Given the description of an element on the screen output the (x, y) to click on. 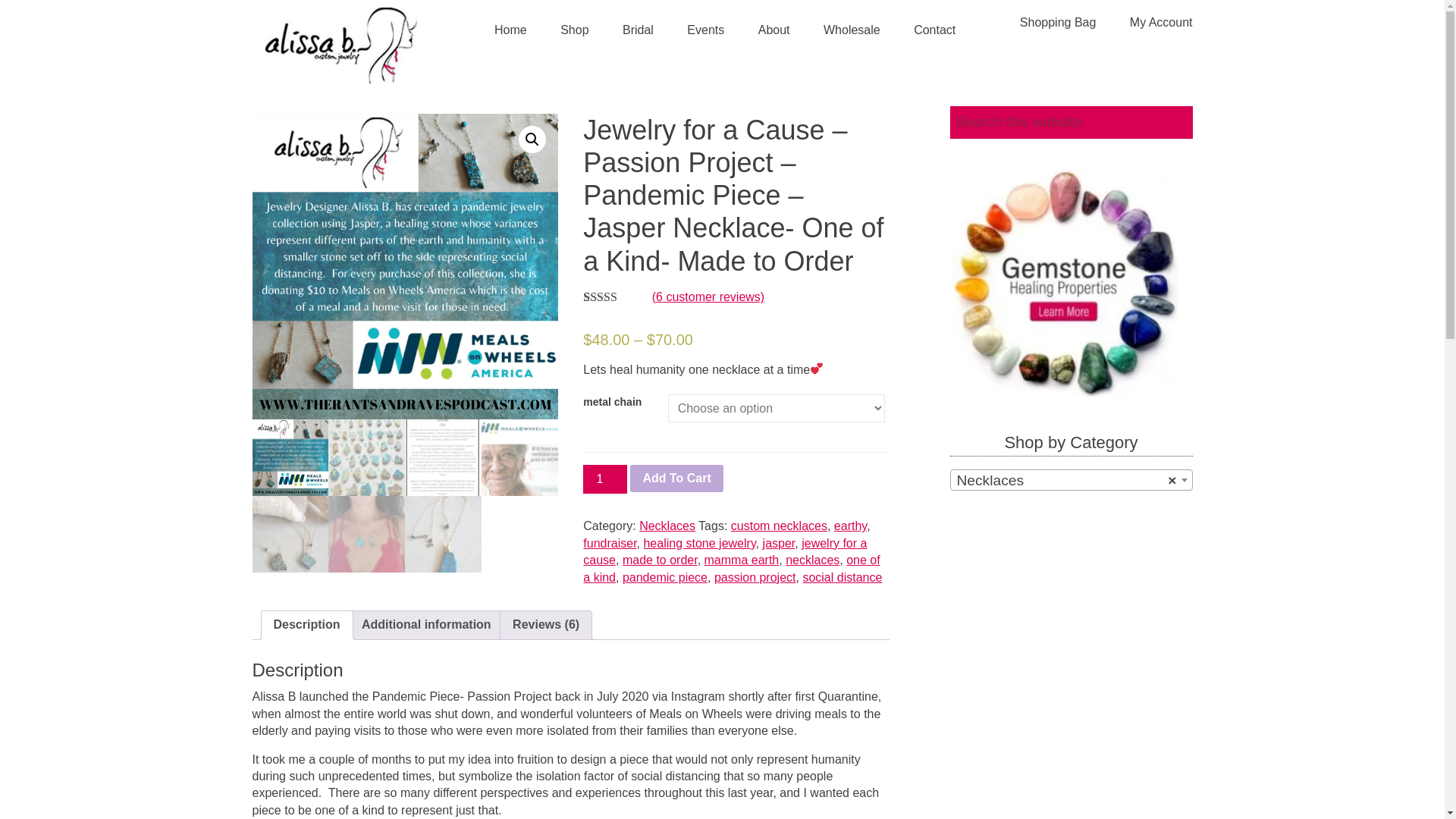
Shopping Bag (1058, 22)
Alissa B Custom Gemstone Jewelry (340, 45)
Events (705, 30)
1 (605, 479)
rants and raves 1200 (404, 266)
Bridal (637, 30)
Wholesale (851, 30)
Contact (934, 30)
My Account (1161, 22)
Home (510, 30)
Shop (574, 30)
About (773, 30)
